Given the description of an element on the screen output the (x, y) to click on. 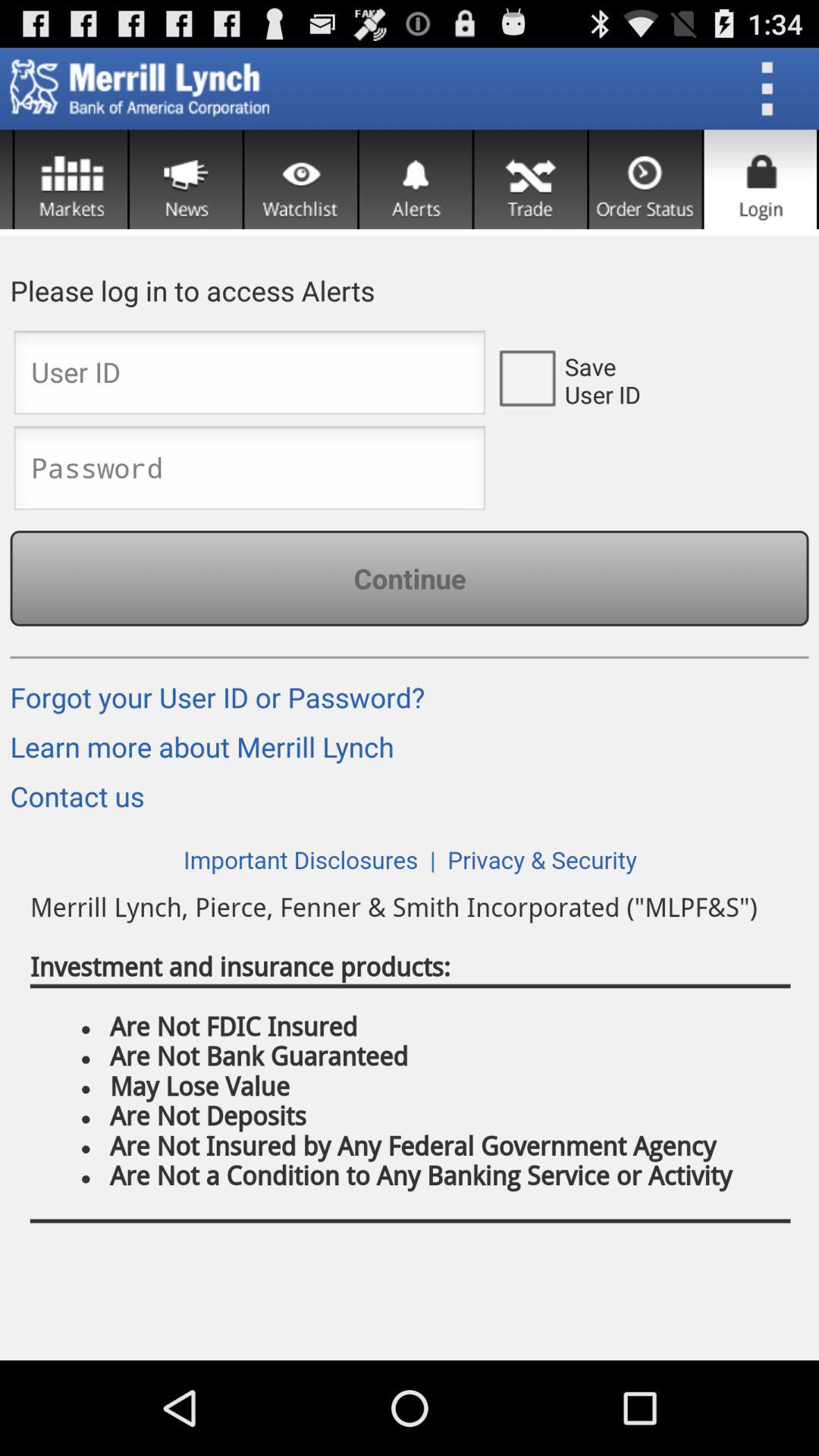
password page (249, 472)
